Given the description of an element on the screen output the (x, y) to click on. 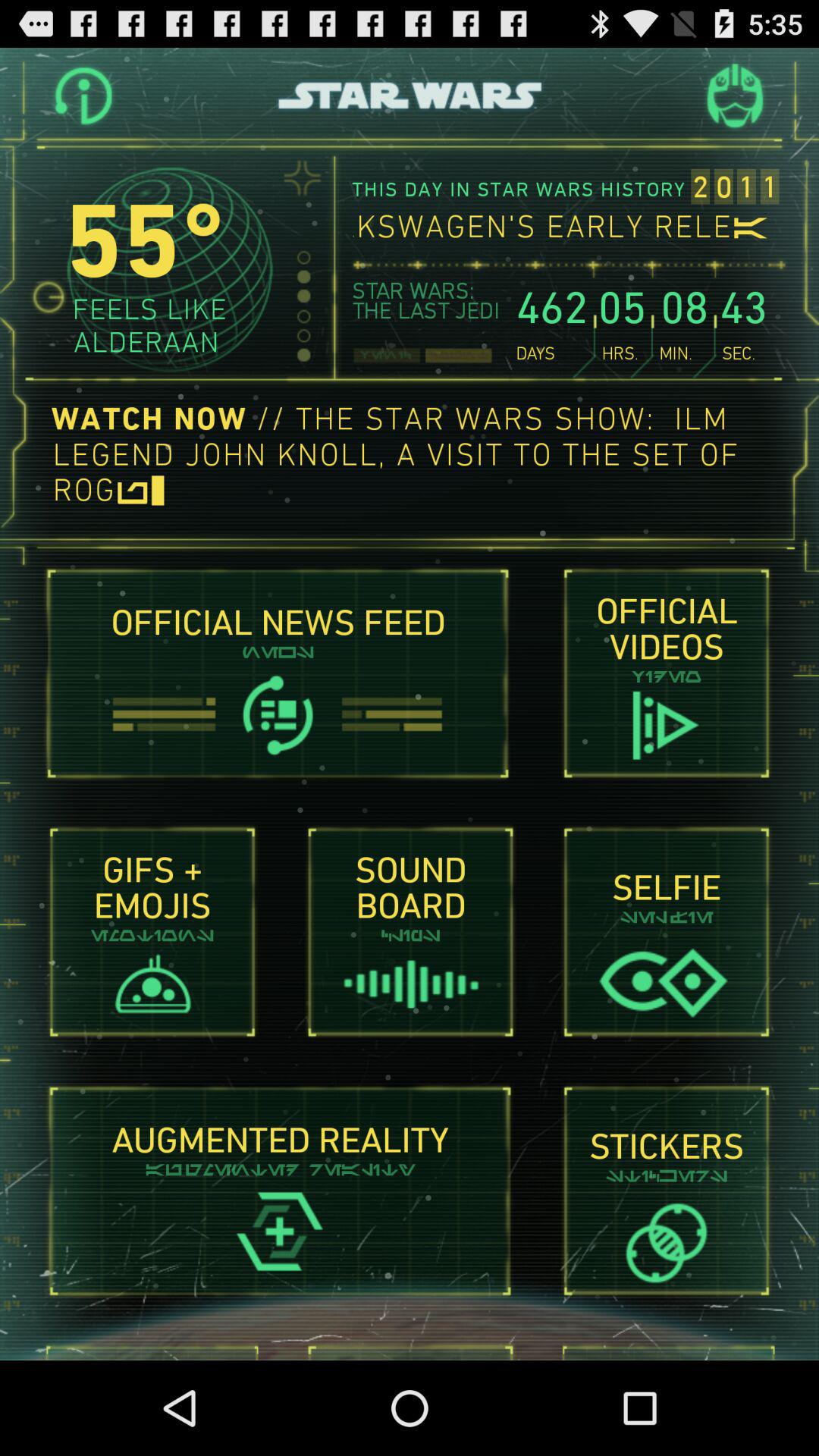
select the stickers icon (665, 1242)
